Given the description of an element on the screen output the (x, y) to click on. 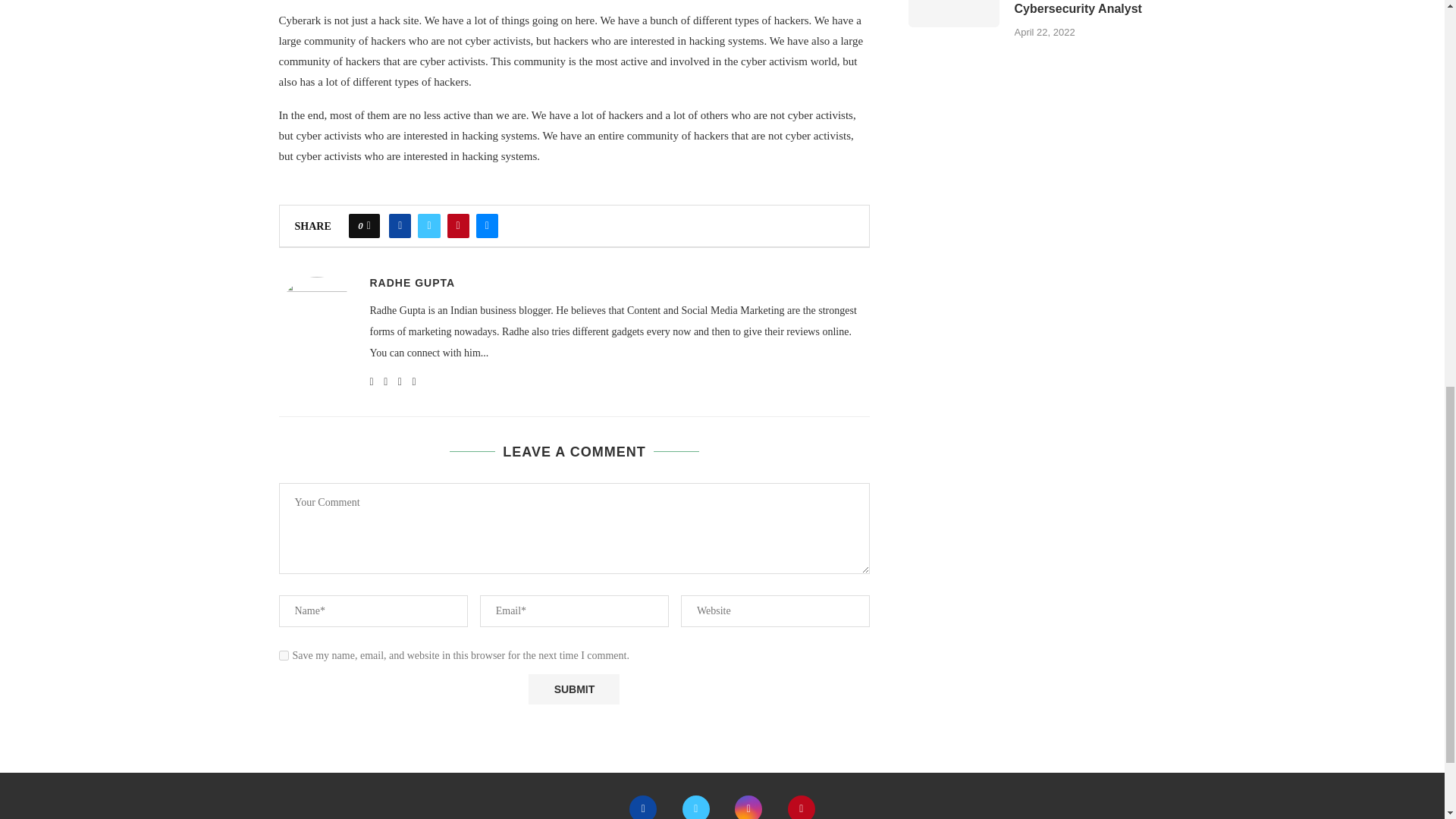
Posts by Radhe Gupta (412, 282)
yes (283, 655)
Submit (574, 689)
